Given the description of an element on the screen output the (x, y) to click on. 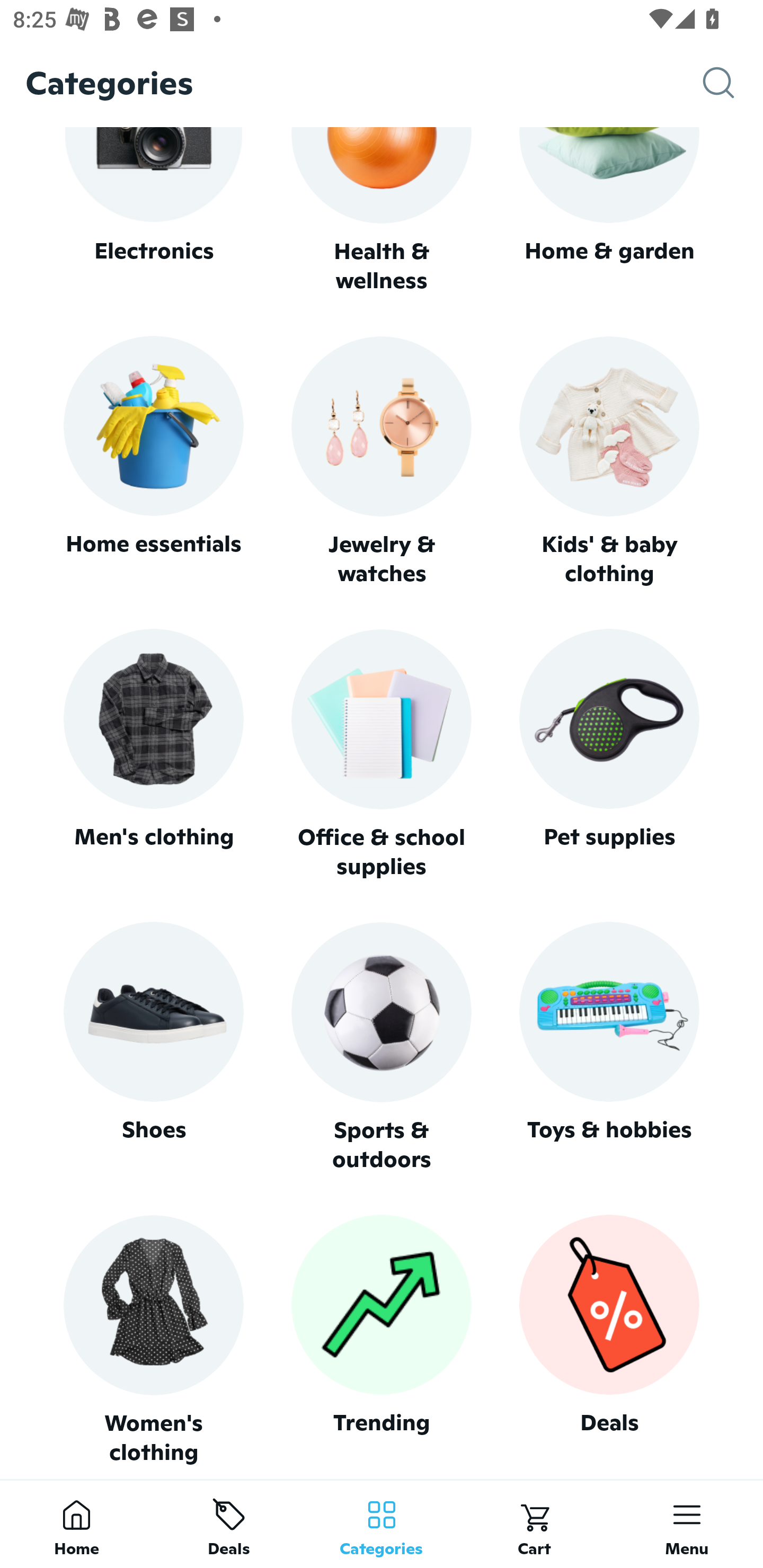
Search (732, 82)
Electronics (153, 210)
Health & wellness (381, 210)
Home & garden (609, 210)
Home essentials (153, 461)
Jewelry & watches (381, 462)
Kids' & baby clothing (609, 462)
Men's clothing (153, 753)
Pet supplies (609, 753)
Office & school supplies (381, 753)
Shoes (153, 1046)
Toys & hobbies (609, 1046)
Sports & outdoors (381, 1046)
Trending (381, 1340)
Deals (609, 1340)
Women's clothing (153, 1340)
Home (76, 1523)
Deals (228, 1523)
Categories (381, 1523)
Cart (533, 1523)
Menu (686, 1523)
